Given the description of an element on the screen output the (x, y) to click on. 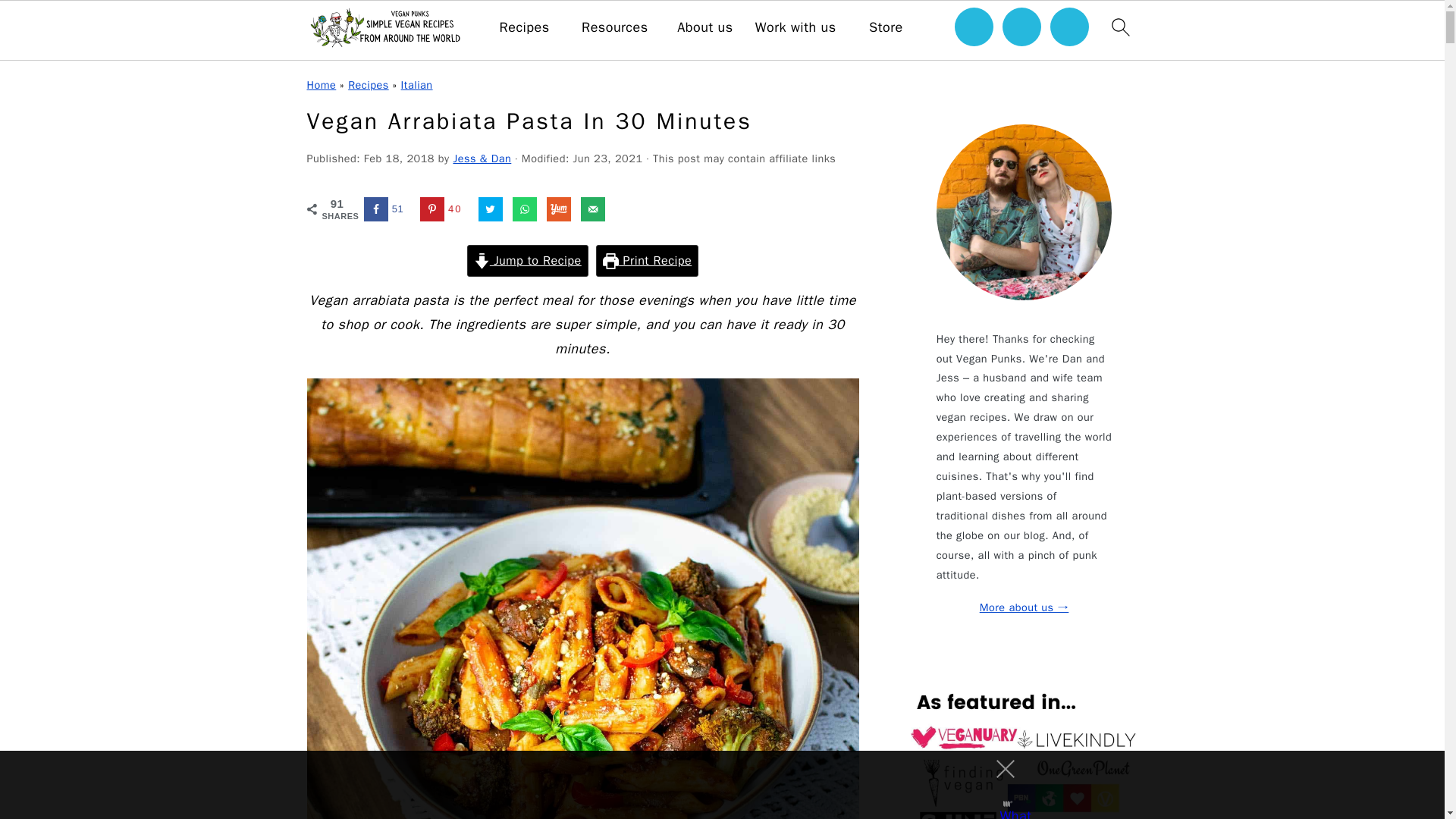
Resources (613, 27)
Store (885, 27)
Work with us (795, 27)
Share on Facebook (387, 209)
Italian (416, 84)
Share on WhatsApp (524, 209)
Recipes (524, 27)
Recipes (367, 84)
Share on Twitter (490, 209)
Send over email (592, 209)
search icon (1119, 26)
Save to Pinterest (444, 209)
About us (704, 27)
Home (320, 84)
